Given the description of an element on the screen output the (x, y) to click on. 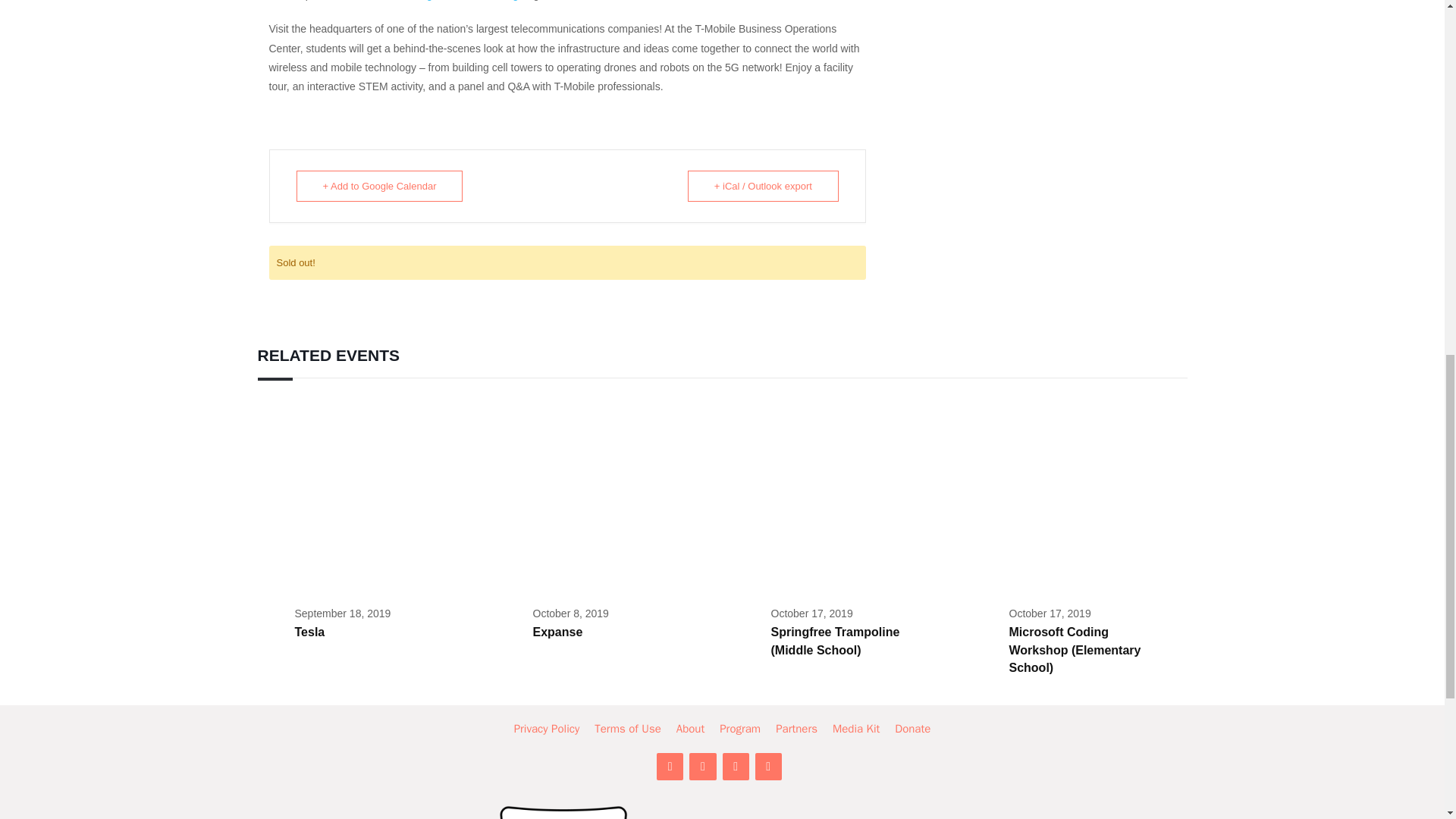
YouTube (768, 766)
Instagram (735, 766)
LinkedIn (669, 766)
Scroll back to top (1406, 720)
Facebook (702, 766)
